Given the description of an element on the screen output the (x, y) to click on. 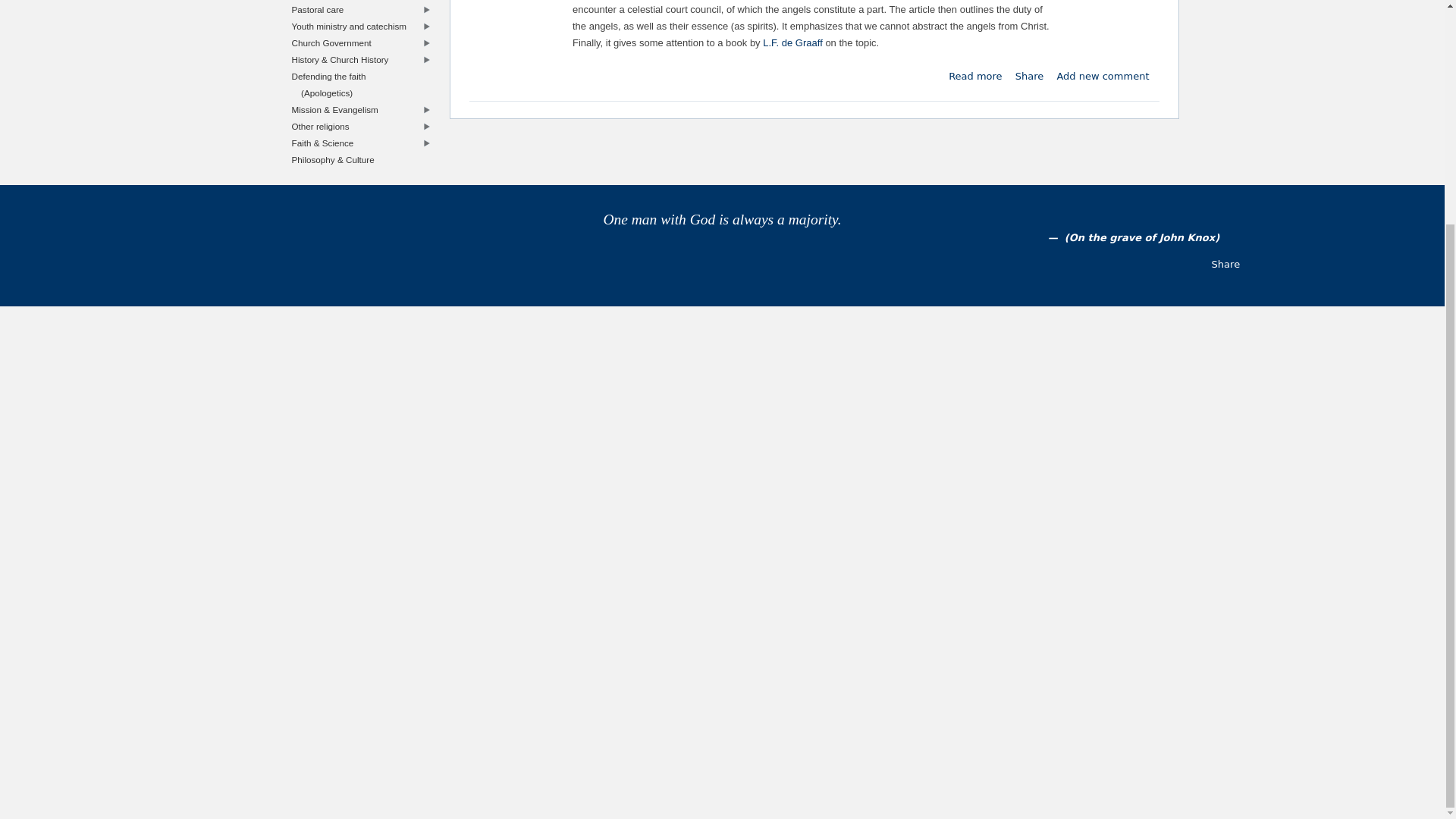
Share (1028, 75)
L.F. de Graaff (792, 42)
Add new comment (1102, 75)
Add a new comment to this page. (1102, 75)
Attention for the Angels (975, 75)
